Given the description of an element on the screen output the (x, y) to click on. 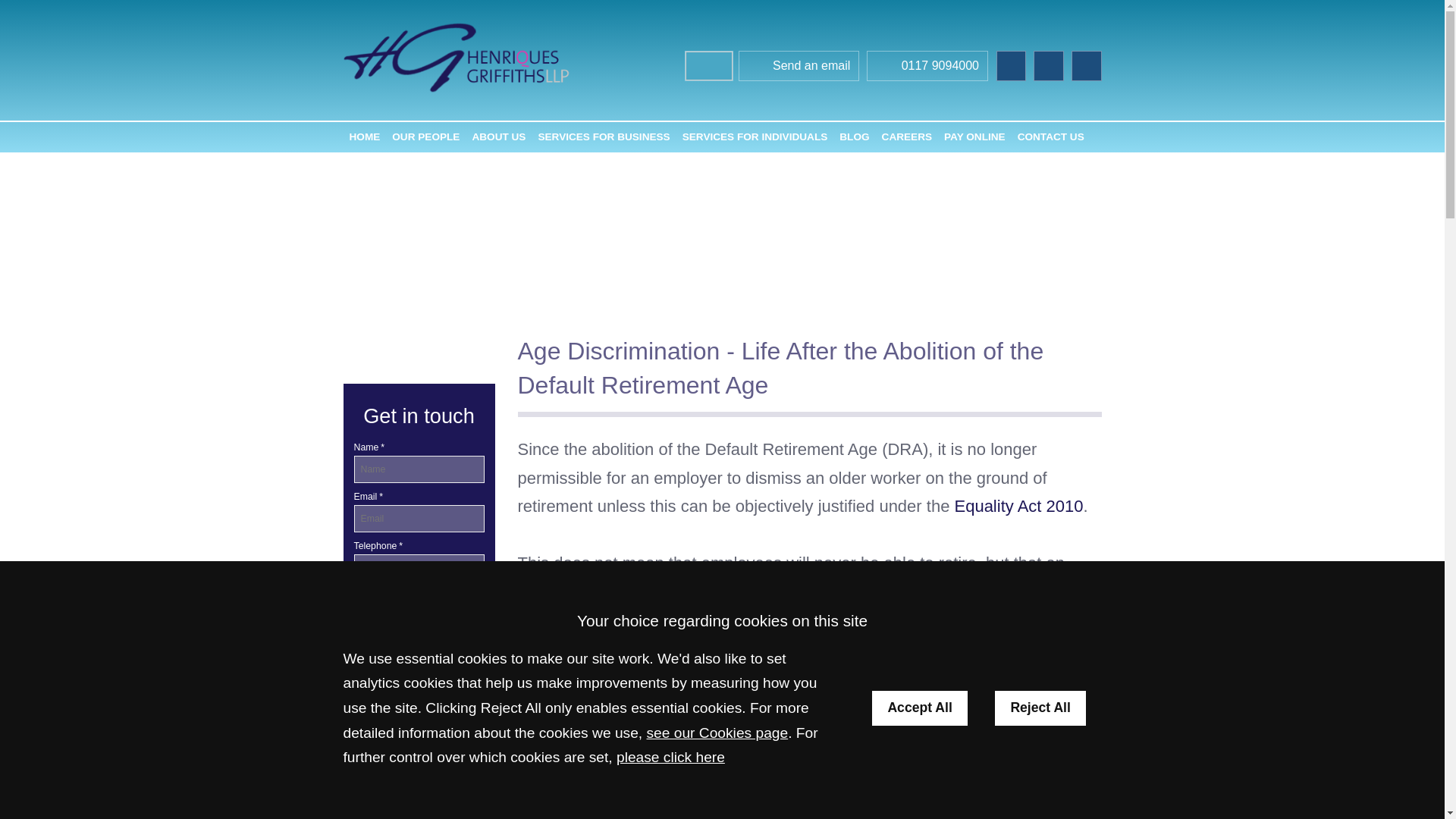
PAY ONLINE (974, 137)
CONTACT US (1050, 137)
SERVICES FOR BUSINESS (603, 137)
CAREERS (906, 137)
Send question (419, 615)
ABOUT US (498, 137)
Send question (419, 615)
Send an email (799, 67)
Employment and HR (418, 727)
Equality Act 2010 (1018, 505)
Landlord, Tenant and Property (418, 815)
OUR PEOPLE (425, 137)
0117 9094000 (927, 67)
SERVICES FOR INDIVIDUALS (755, 137)
Commercial Client (396, 693)
